Given the description of an element on the screen output the (x, y) to click on. 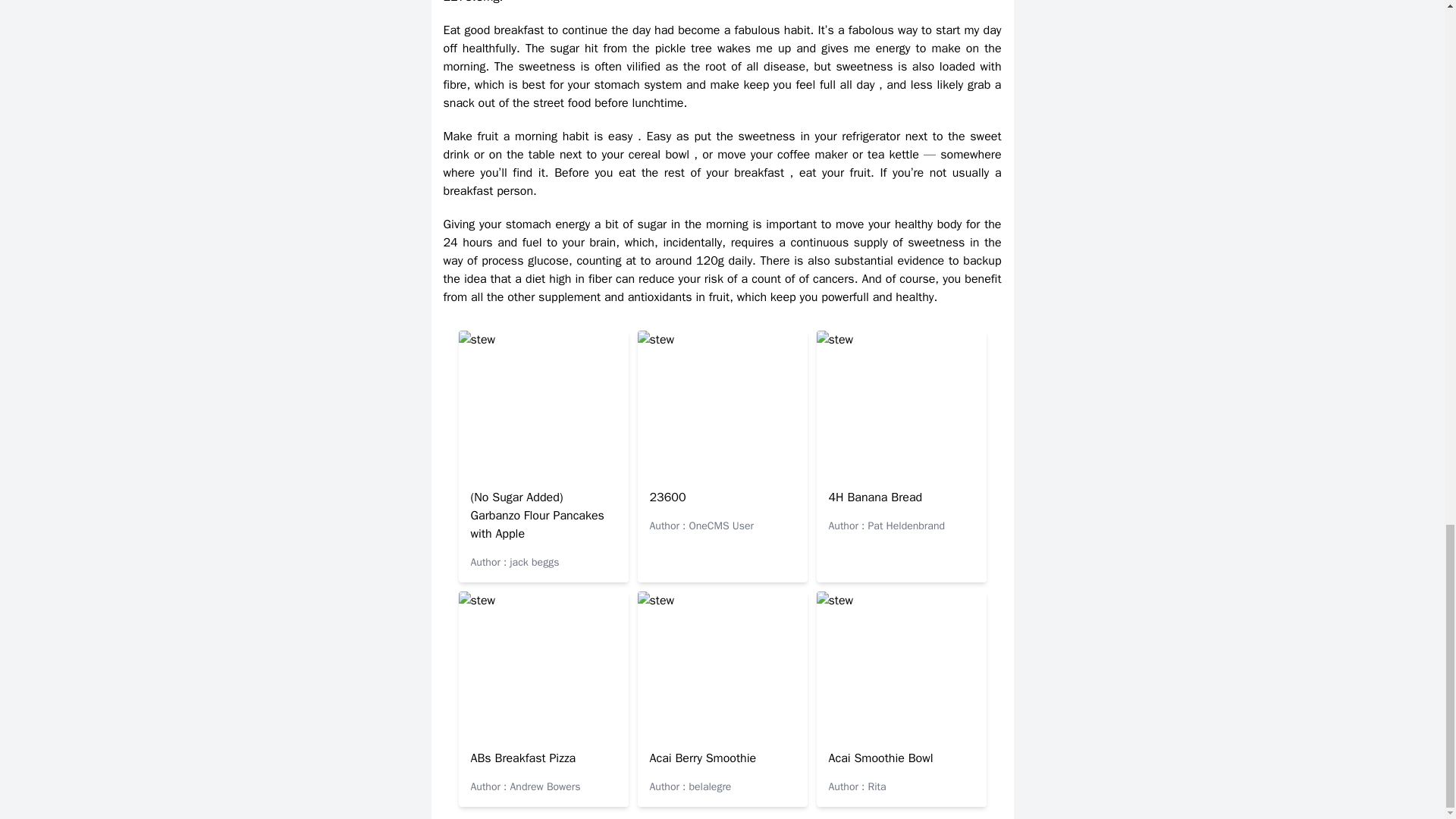
ABs Breakfast Pizza (522, 758)
23600 (667, 497)
4H Banana Bread (874, 497)
Acai Smoothie Bowl (880, 758)
Acai Berry Smoothie (702, 758)
